Given the description of an element on the screen output the (x, y) to click on. 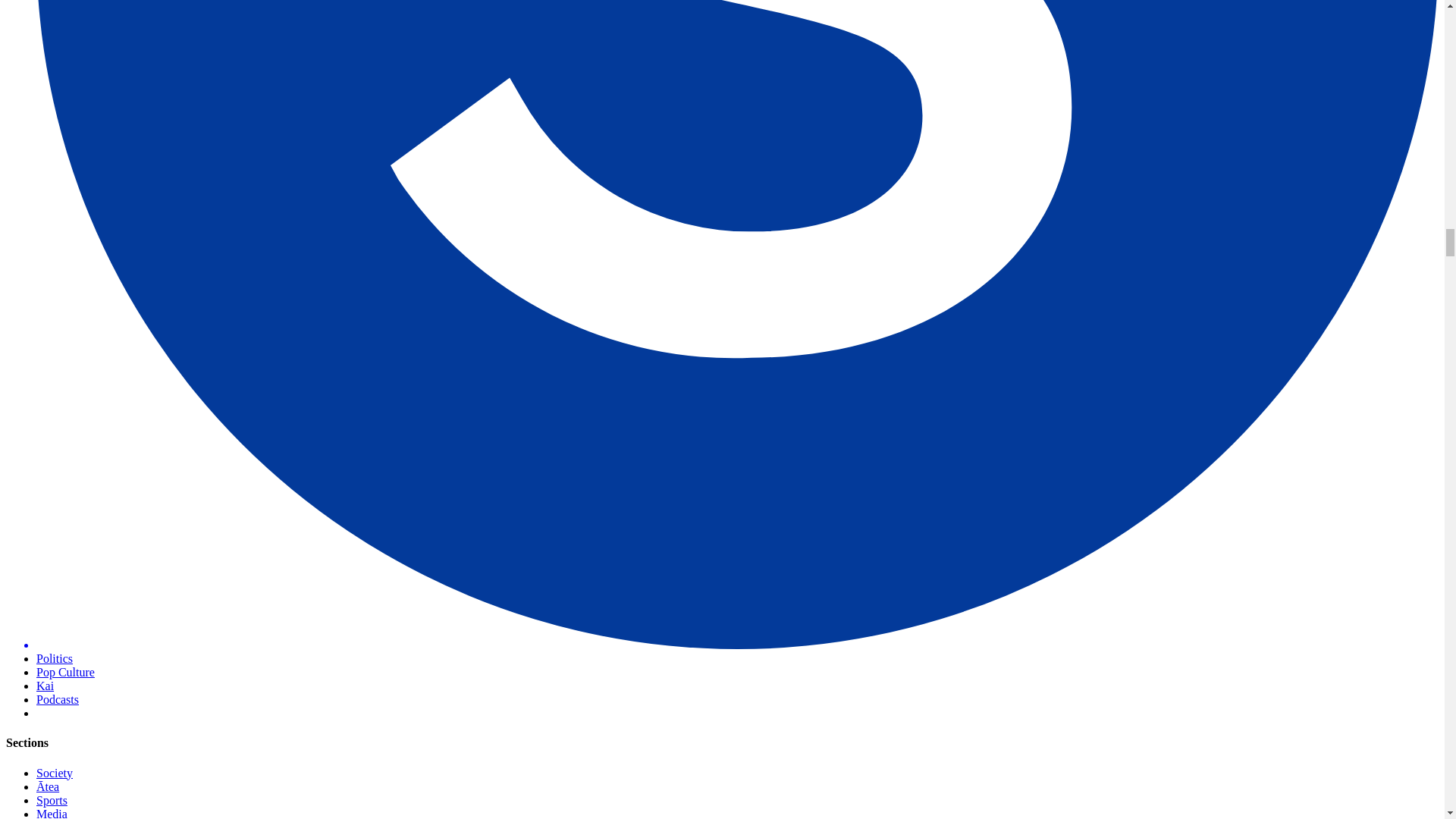
Kai (44, 685)
Media (51, 813)
Podcasts (57, 698)
Sports (51, 799)
Society (54, 772)
Pop Culture (65, 671)
Politics (54, 658)
